Given the description of an element on the screen output the (x, y) to click on. 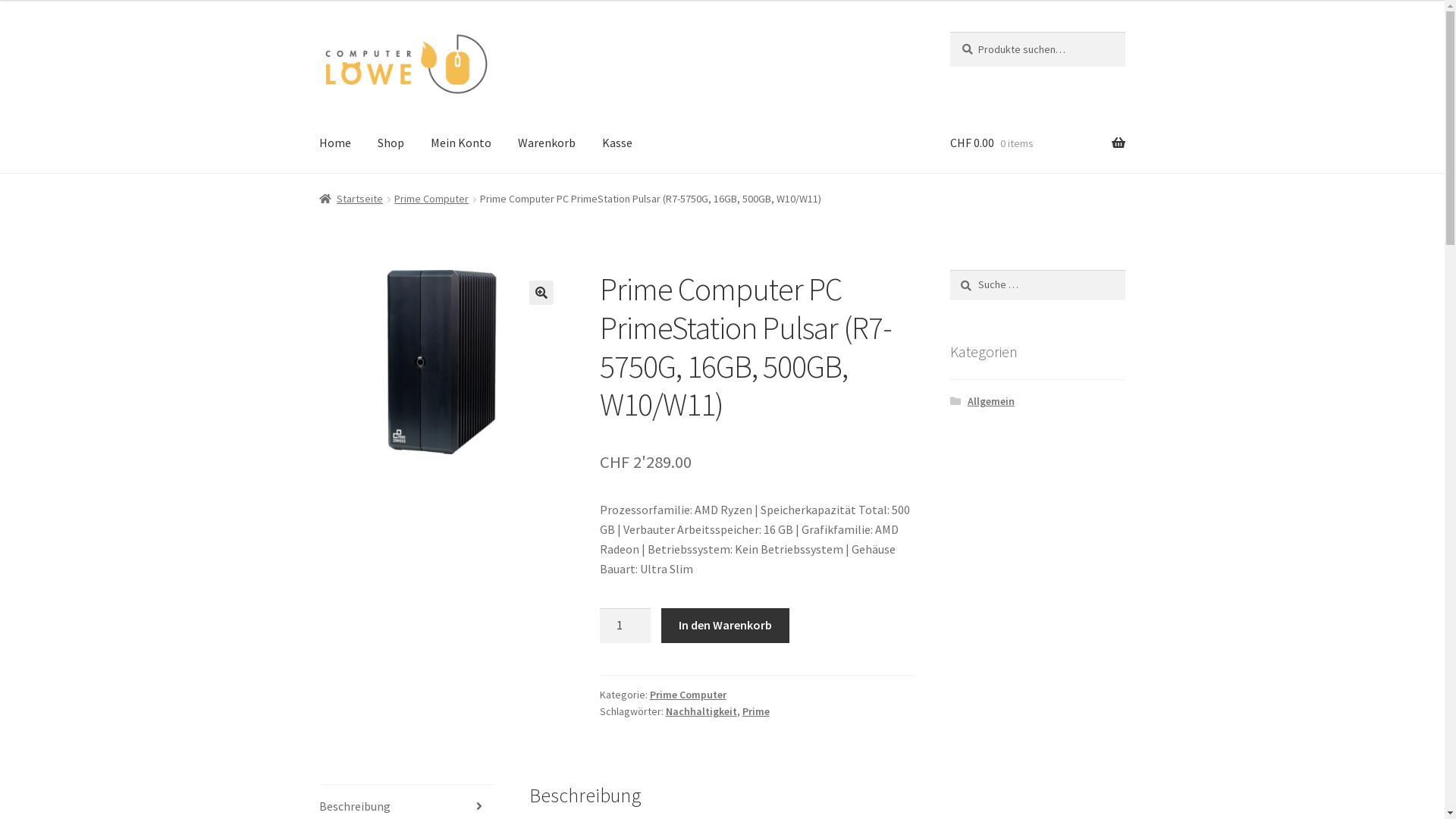
212325733_xxl Element type: hover (441, 361)
Prime Element type: text (755, 711)
Prime Computer Element type: text (687, 694)
Mein Konto Element type: text (460, 142)
Kasse Element type: text (616, 142)
CHF 0.00 0 items Element type: text (1037, 142)
Allgemein Element type: text (990, 400)
Nachhaltigkeit Element type: text (701, 711)
Skip to navigation Element type: text (318, 31)
Suche Element type: text (949, 269)
Startseite Element type: text (351, 198)
Prime Computer Element type: text (431, 198)
Shop Element type: text (390, 142)
Warenkorb Element type: text (546, 142)
In den Warenkorb Element type: text (724, 625)
Suche Element type: text (949, 31)
Home Element type: text (335, 142)
